Given the description of an element on the screen output the (x, y) to click on. 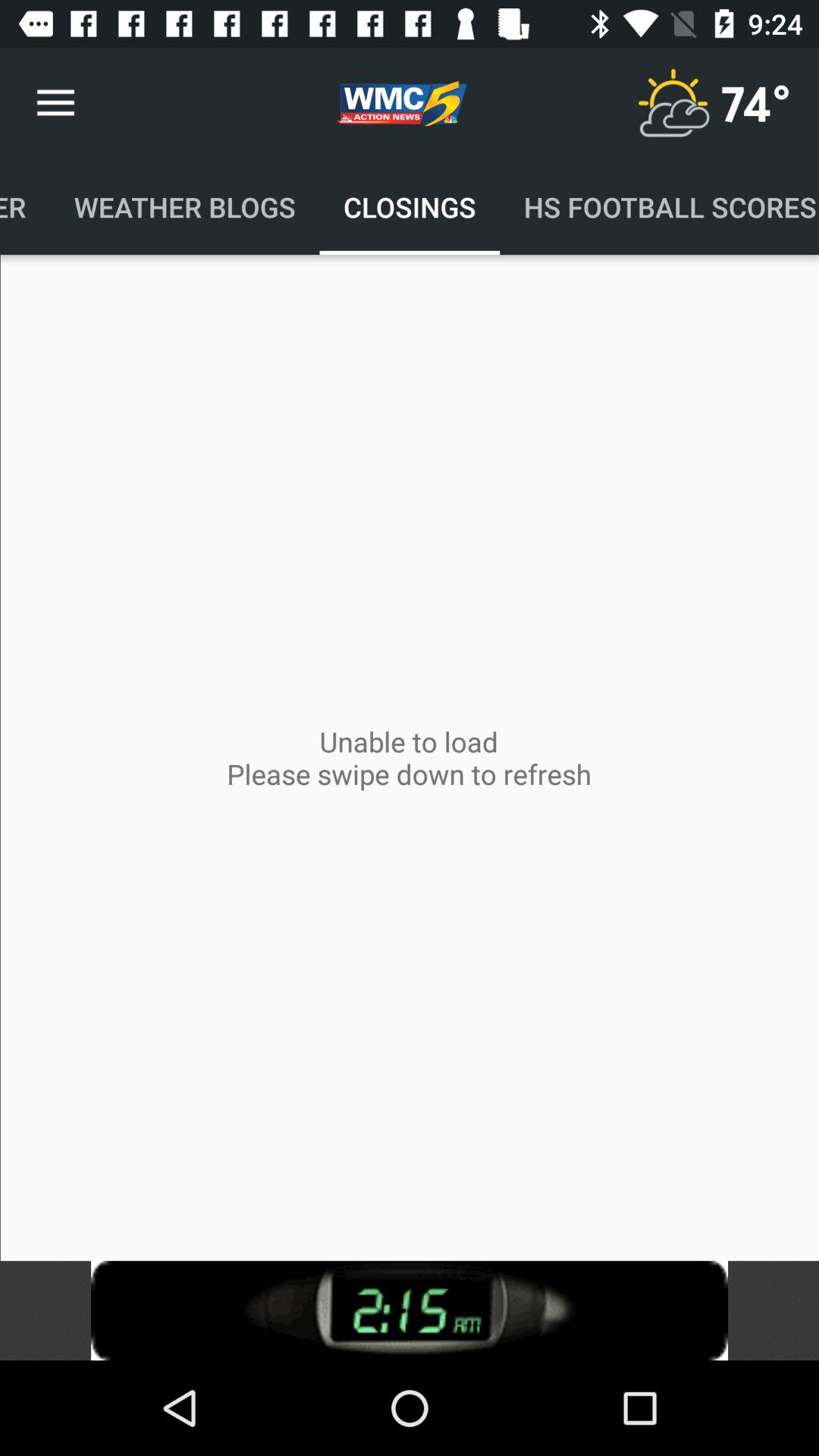
check climate option (673, 103)
